Given the description of an element on the screen output the (x, y) to click on. 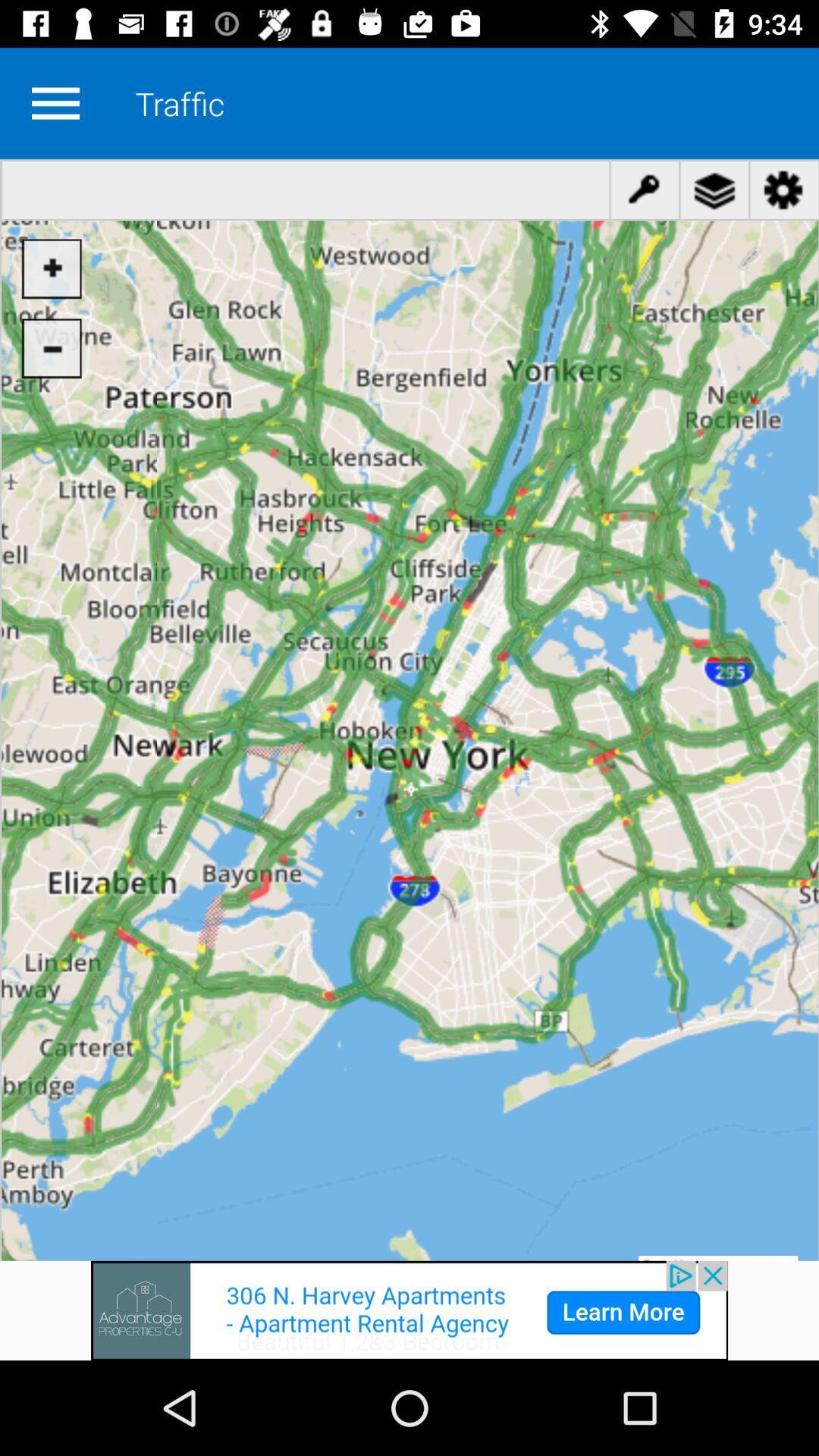
settings (55, 103)
